Given the description of an element on the screen output the (x, y) to click on. 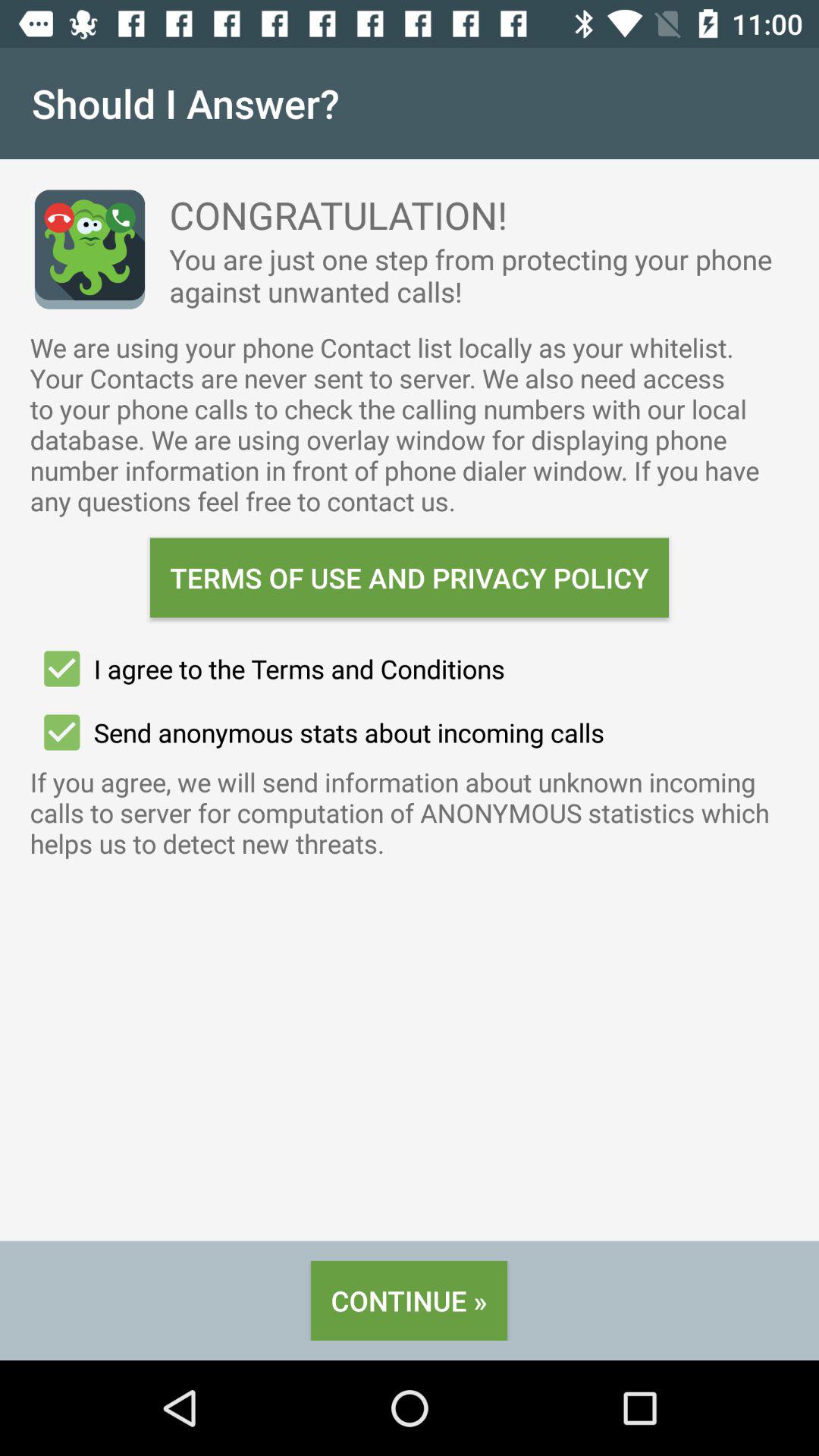
select the terms of use item (409, 577)
